Given the description of an element on the screen output the (x, y) to click on. 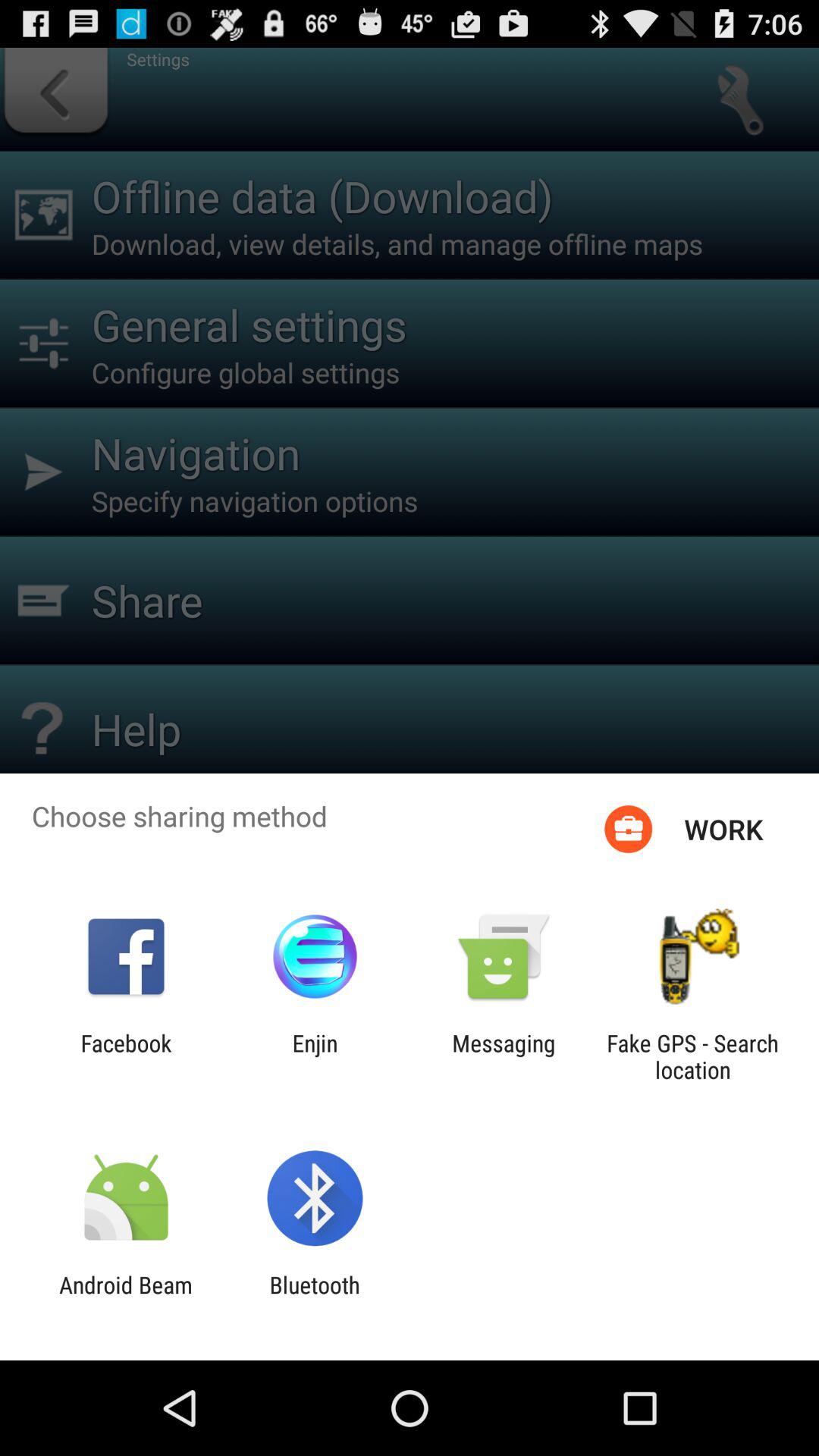
launch item to the left of the messaging app (314, 1056)
